Given the description of an element on the screen output the (x, y) to click on. 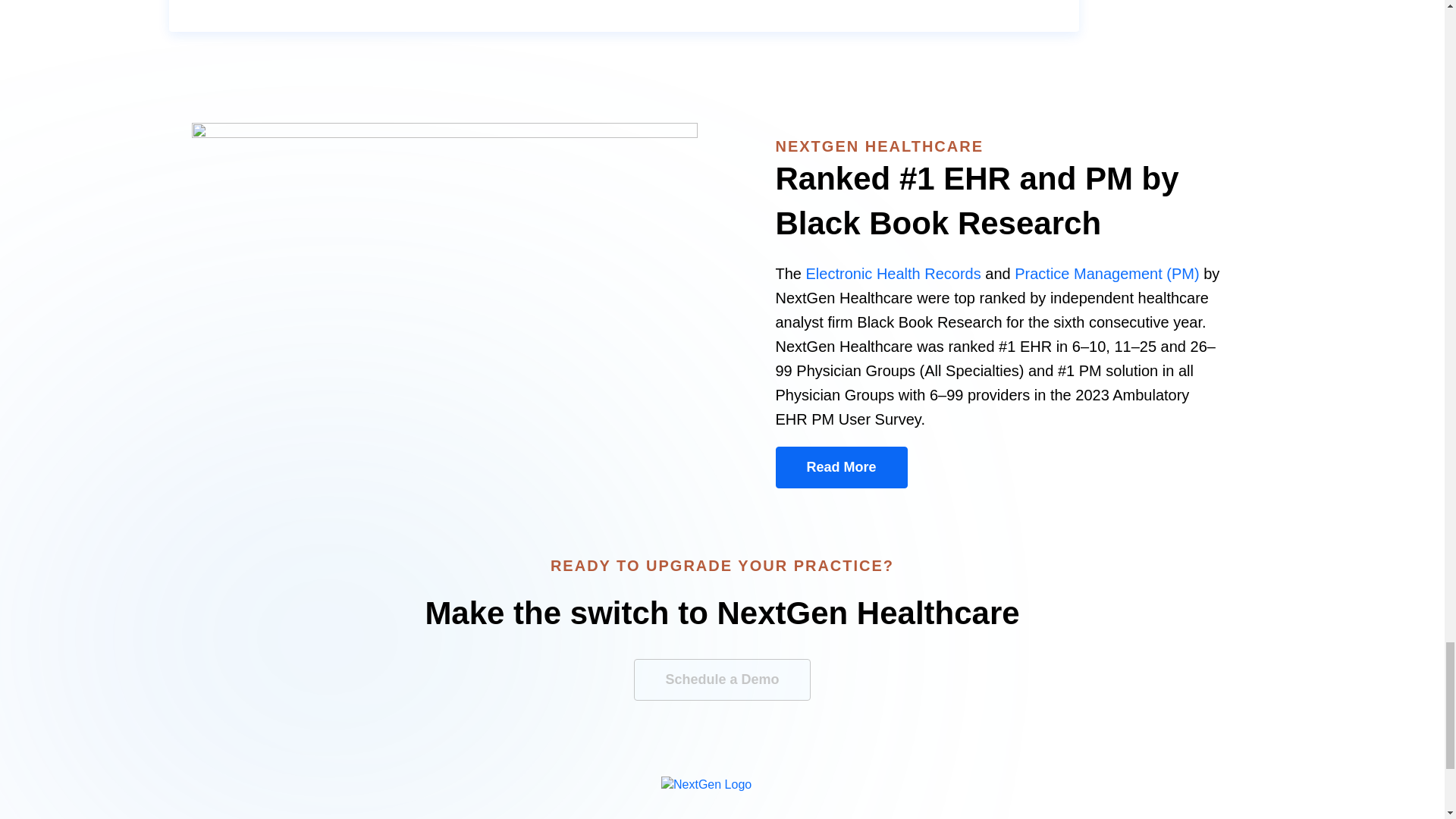
Electronic Health Records (893, 273)
Schedule a Demo (721, 680)
Read More (840, 467)
